Given the description of an element on the screen output the (x, y) to click on. 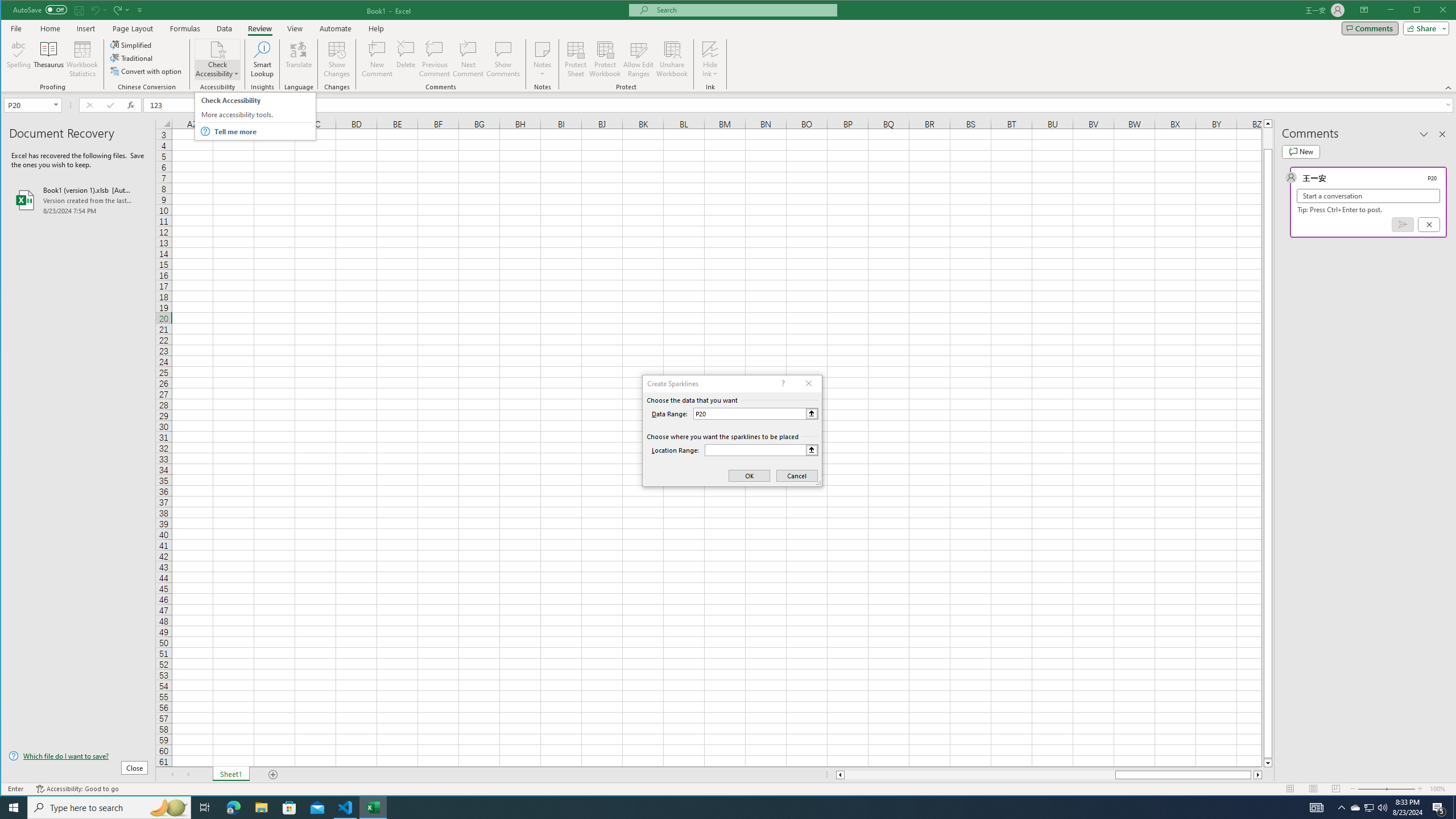
New Comment (377, 59)
Tell me more (262, 131)
Show Comments (502, 59)
Delete (405, 59)
Smart Lookup (261, 59)
Previous Comment (434, 59)
Spelling... (18, 59)
